Given the description of an element on the screen output the (x, y) to click on. 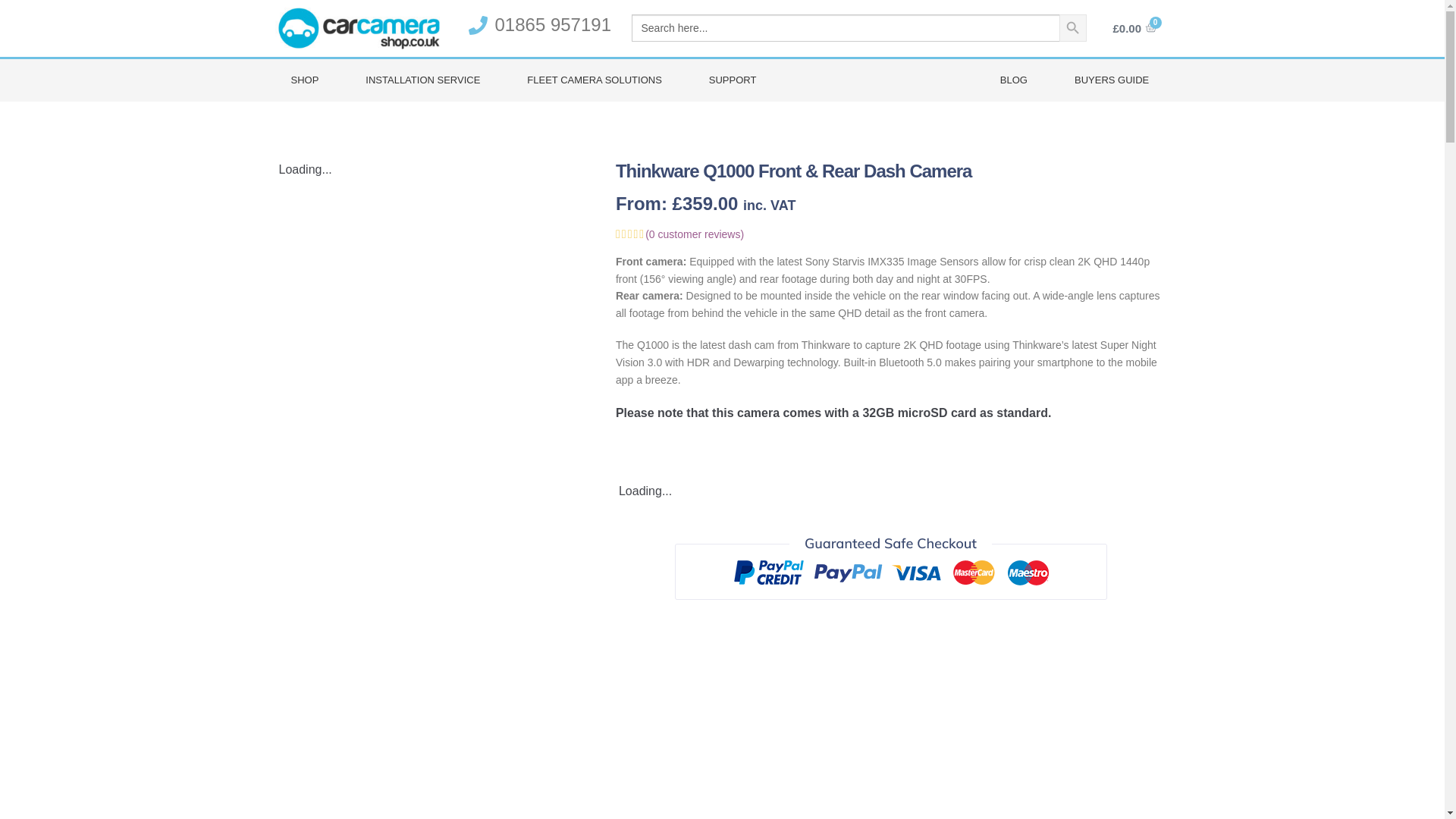
FLEET CAMERA SOLUTIONS (593, 79)
BLOG (1013, 79)
BUYERS GUIDE (1111, 79)
SUPPORT (732, 79)
SHOP (304, 79)
Search Button (1072, 27)
INSTALLATION SERVICE (422, 79)
Installation Service (422, 79)
